Given the description of an element on the screen output the (x, y) to click on. 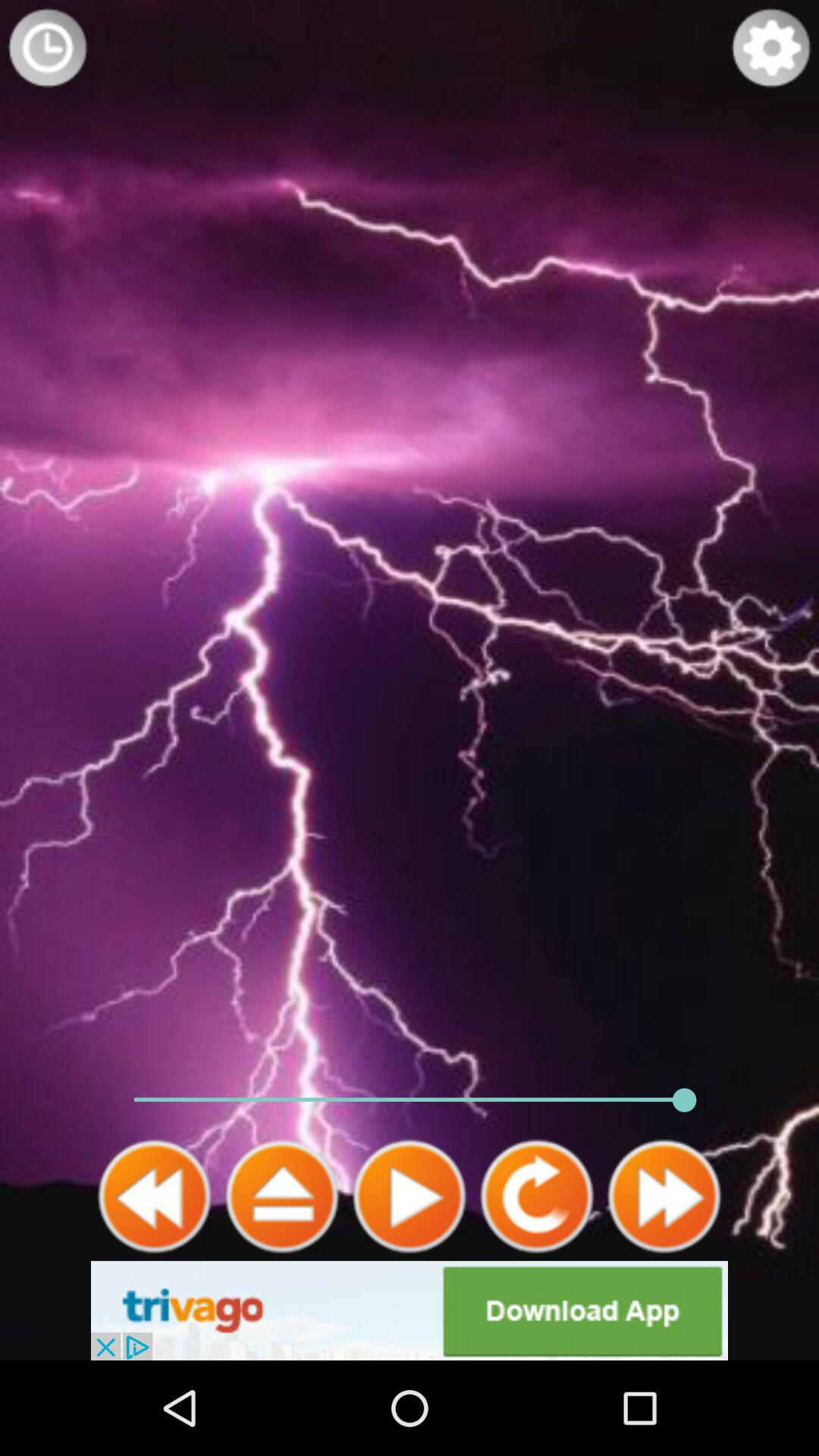
back button (154, 1196)
